Given the description of an element on the screen output the (x, y) to click on. 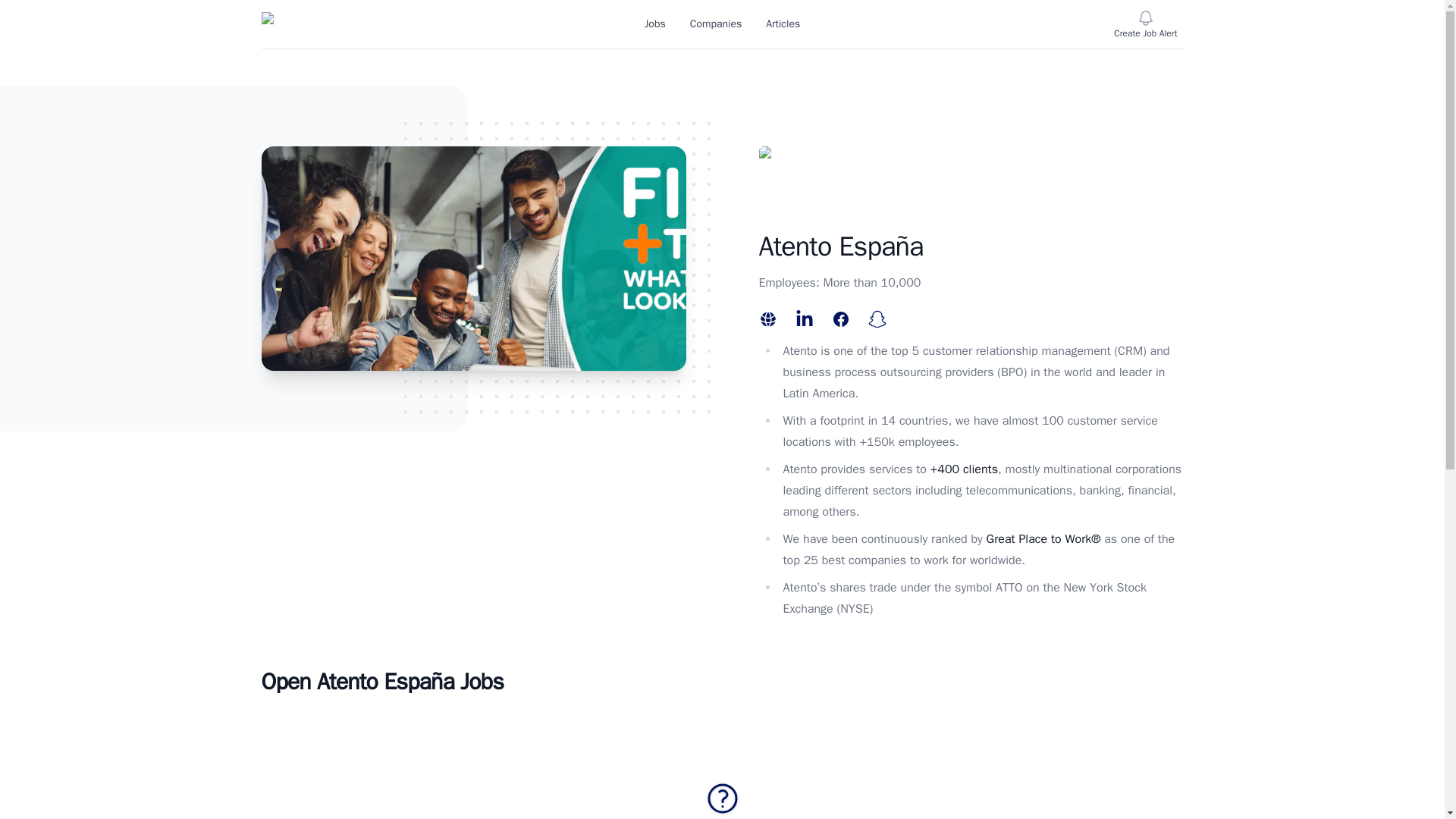
Your Company (272, 24)
Facebook (839, 315)
Articles (782, 24)
Snapchat (876, 315)
Companies (716, 24)
Website (767, 315)
LinkedIn (803, 315)
Jobs (655, 24)
